Given the description of an element on the screen output the (x, y) to click on. 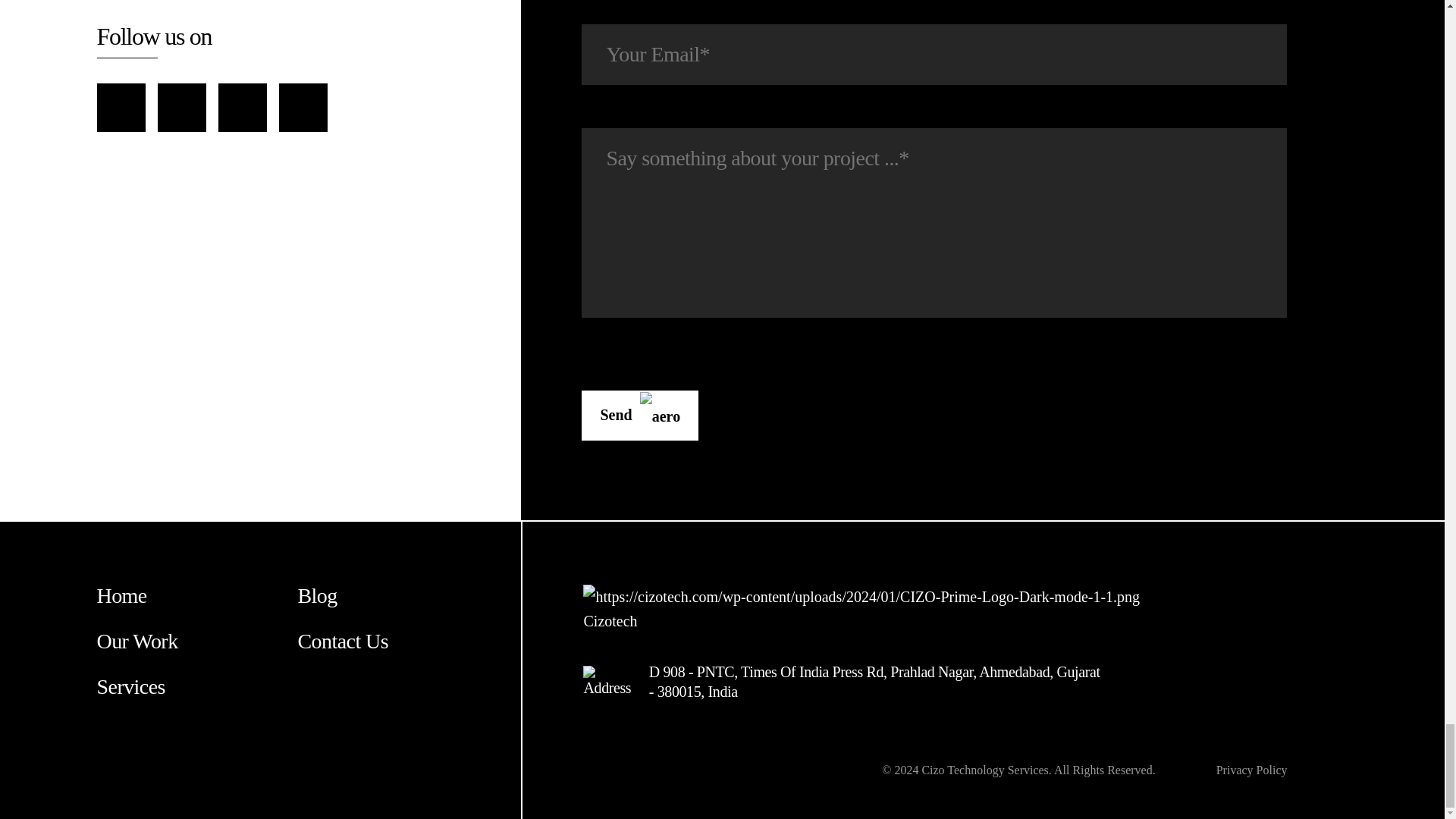
Services (197, 687)
Send (639, 415)
Contact Us (397, 641)
Blog (397, 595)
Our Work (197, 641)
Home (197, 595)
